Given the description of an element on the screen output the (x, y) to click on. 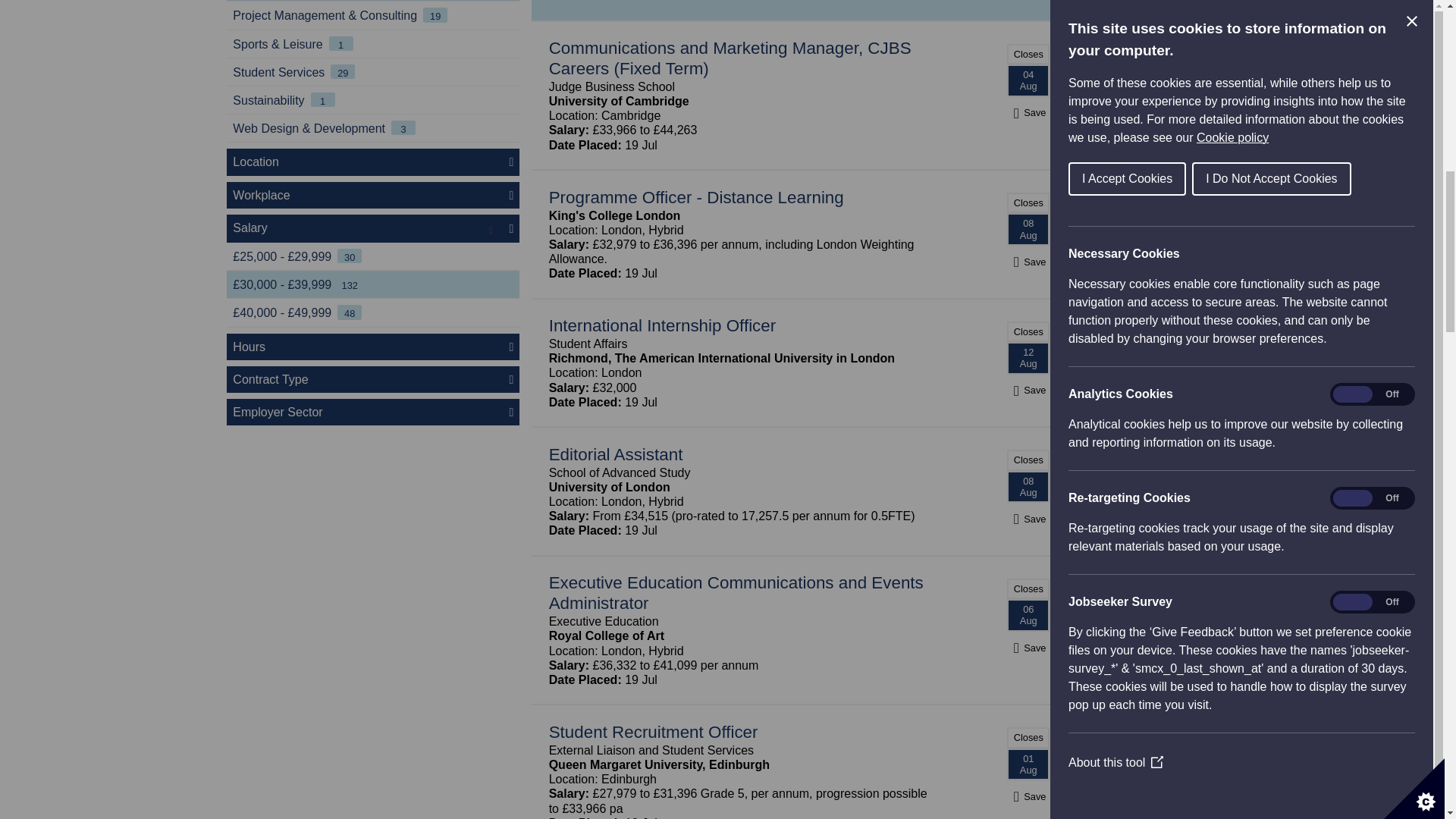
Save job (1027, 389)
Save job (1027, 647)
Save (1027, 112)
Programme Officer - Distance Learning (696, 197)
Save job (1027, 261)
Save job (1027, 518)
Save job (1027, 112)
Save job (1027, 796)
